Given the description of an element on the screen output the (x, y) to click on. 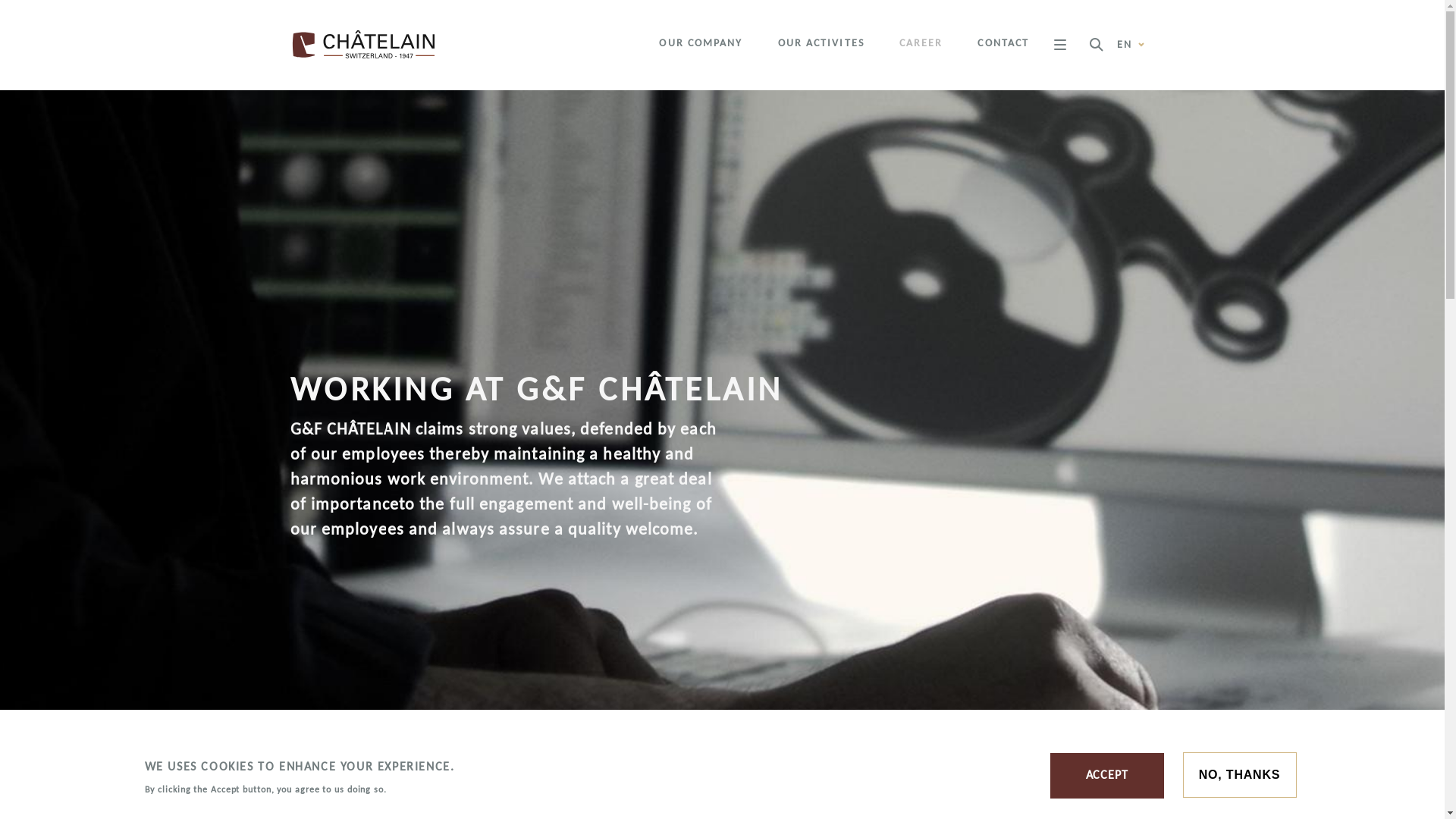
OUR ACTIVITES Element type: text (820, 43)
OUR COMPANY Element type: text (700, 43)
Skip to main content Element type: text (0, 91)
Toggle navigation Element type: text (1059, 43)
CAREER Element type: text (921, 43)
Toggle search Element type: text (1096, 43)
EN Element type: text (1130, 43)
CONTACT Element type: text (1003, 43)
More information Element type: text (439, 790)
ACCEPT Element type: text (1107, 775)
Home Element type: hover (368, 44)
NO, THANKS Element type: text (1239, 774)
